Given the description of an element on the screen output the (x, y) to click on. 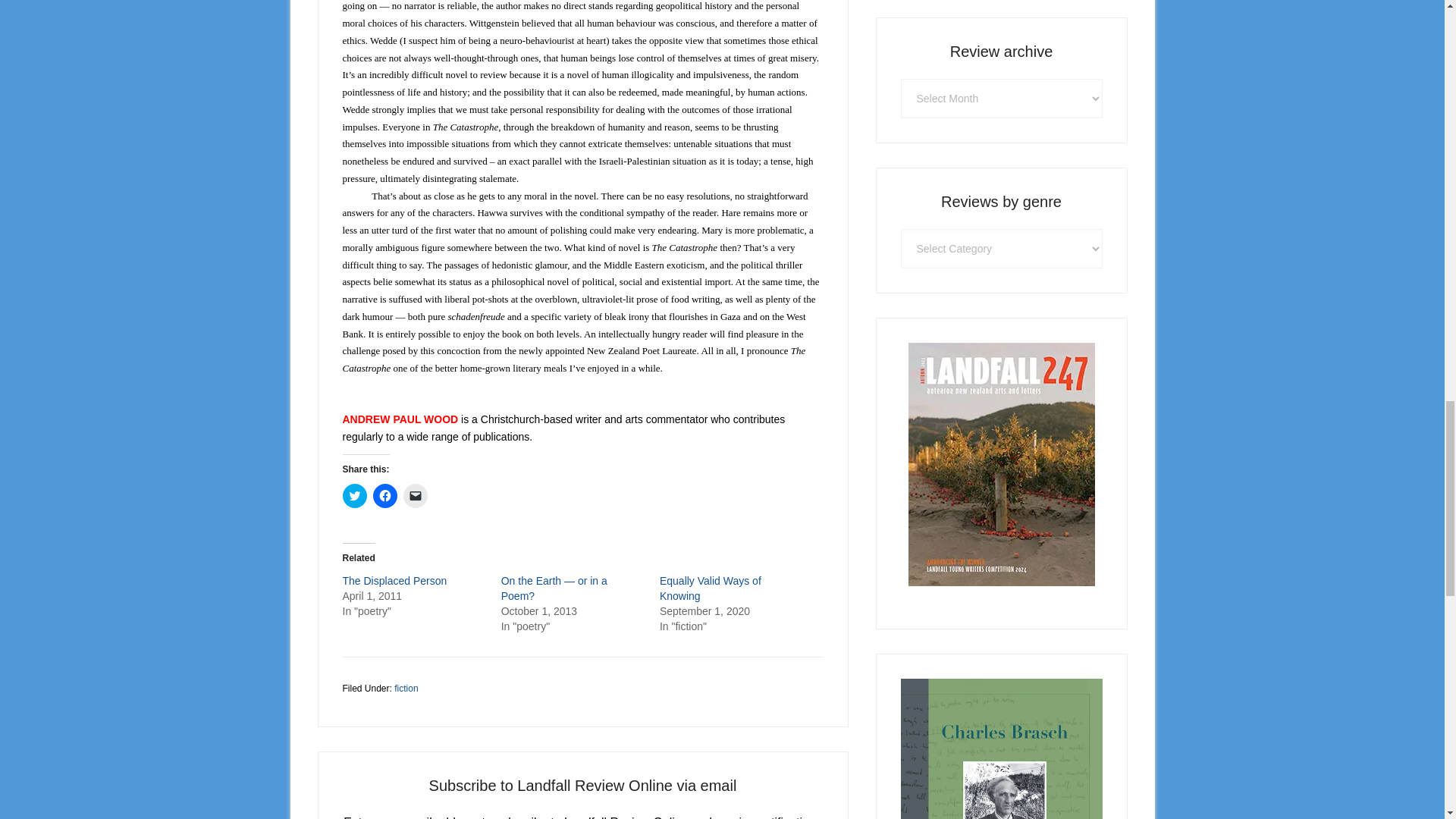
Equally Valid Ways of Knowing (710, 587)
Charles Brasch Journals (1001, 748)
The Displaced Person (394, 580)
Click to share on Facebook (384, 495)
The Displaced Person (394, 580)
fiction (405, 688)
Click to email a link to a friend (415, 495)
Equally Valid Ways of Knowing (710, 587)
Click to share on Twitter (354, 495)
